Given the description of an element on the screen output the (x, y) to click on. 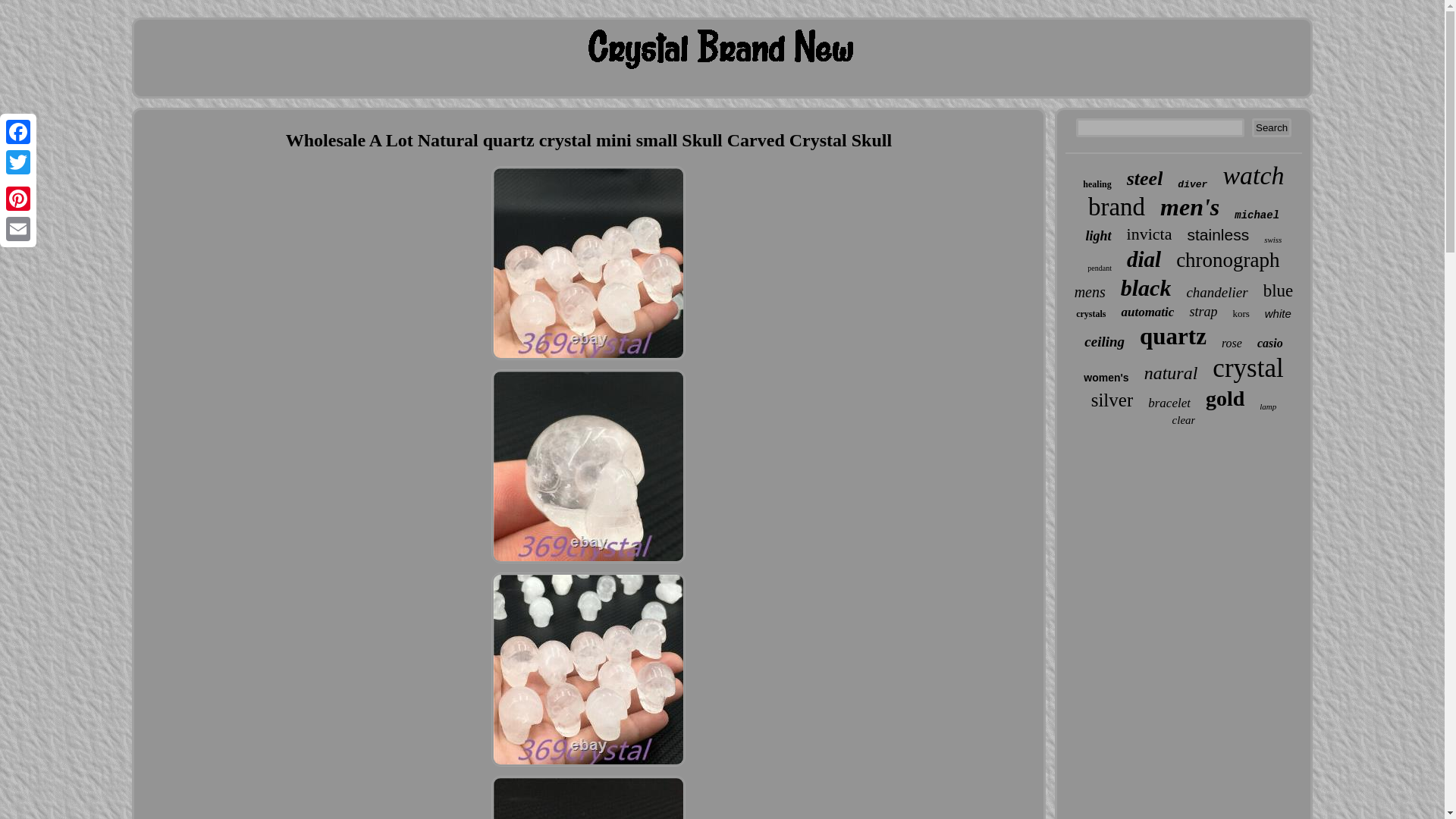
pendant (1099, 267)
Search (1271, 127)
Pinterest (17, 198)
dial (1143, 259)
healing (1096, 184)
light (1099, 236)
steel (1144, 178)
invicta (1149, 234)
brand (1115, 207)
Search (1271, 127)
diver (1192, 184)
stainless (1217, 235)
watch (1253, 175)
